Given the description of an element on the screen output the (x, y) to click on. 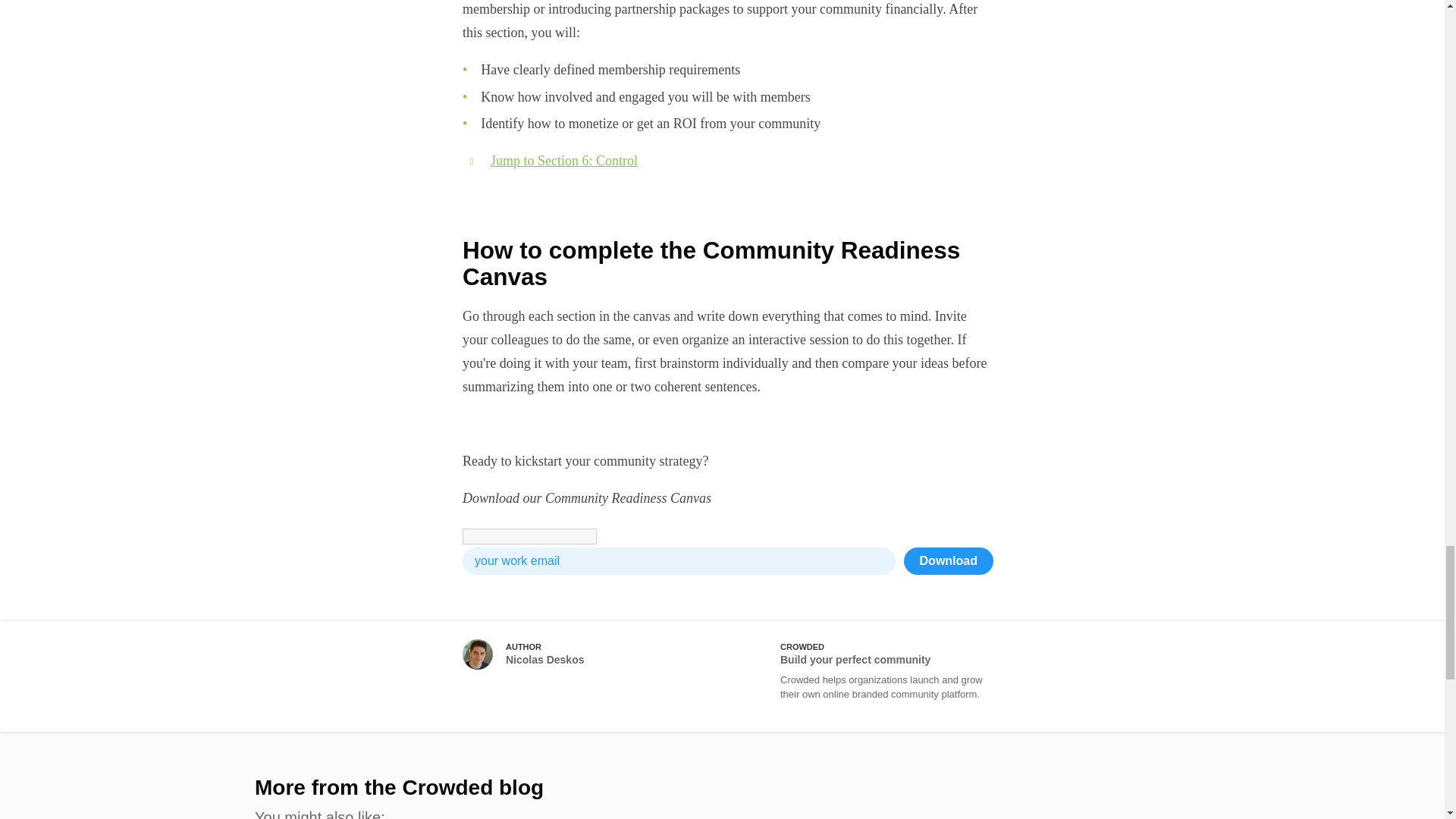
Crowded (864, 676)
Jump to Section 6: Control (563, 160)
Download (948, 560)
